Given the description of an element on the screen output the (x, y) to click on. 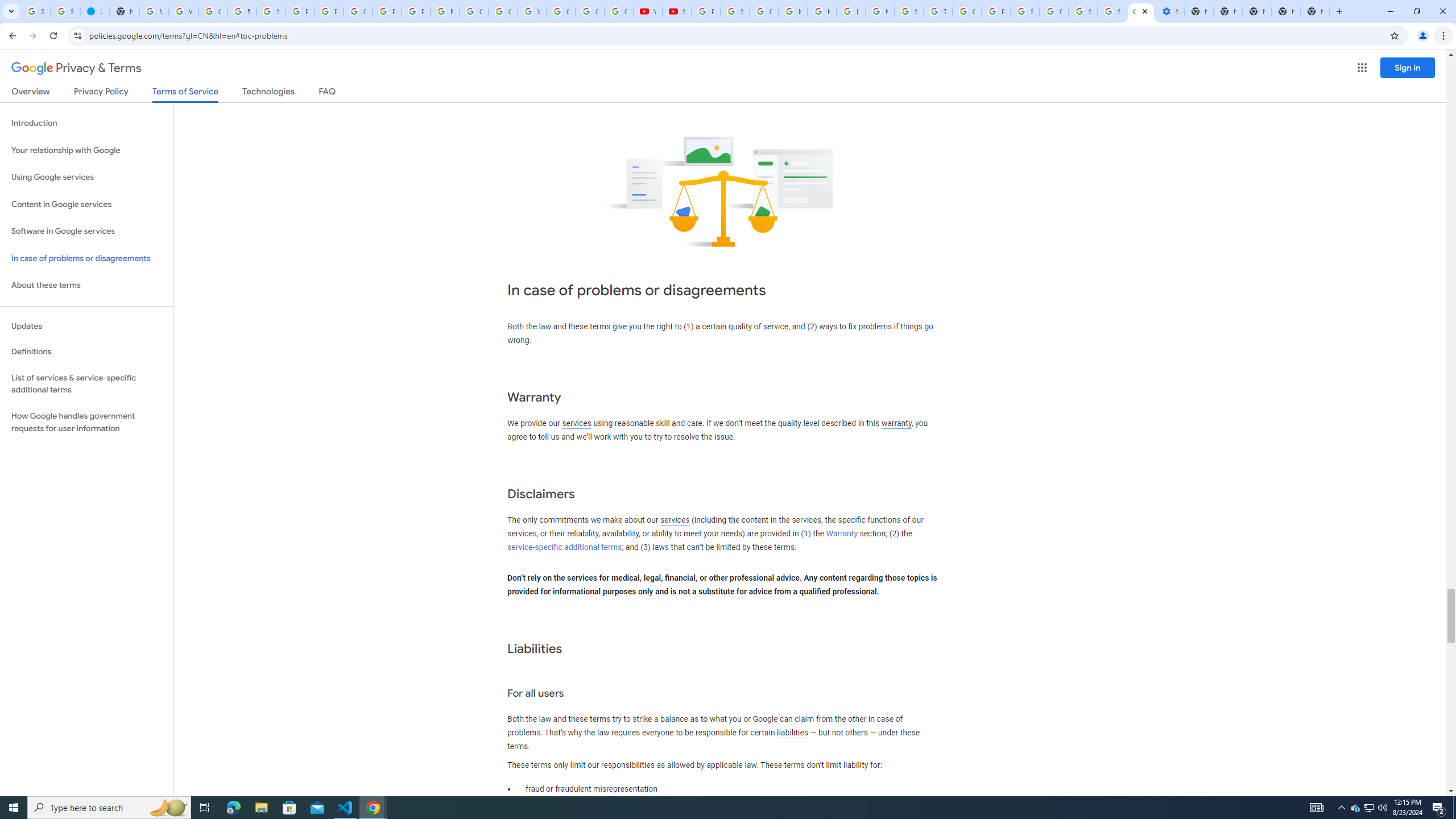
Using Google services (86, 176)
About these terms (86, 284)
In case of problems or disagreements (86, 258)
New Tab (1315, 11)
Subscriptions - YouTube (677, 11)
service-specific additional terms (563, 547)
